Given the description of an element on the screen output the (x, y) to click on. 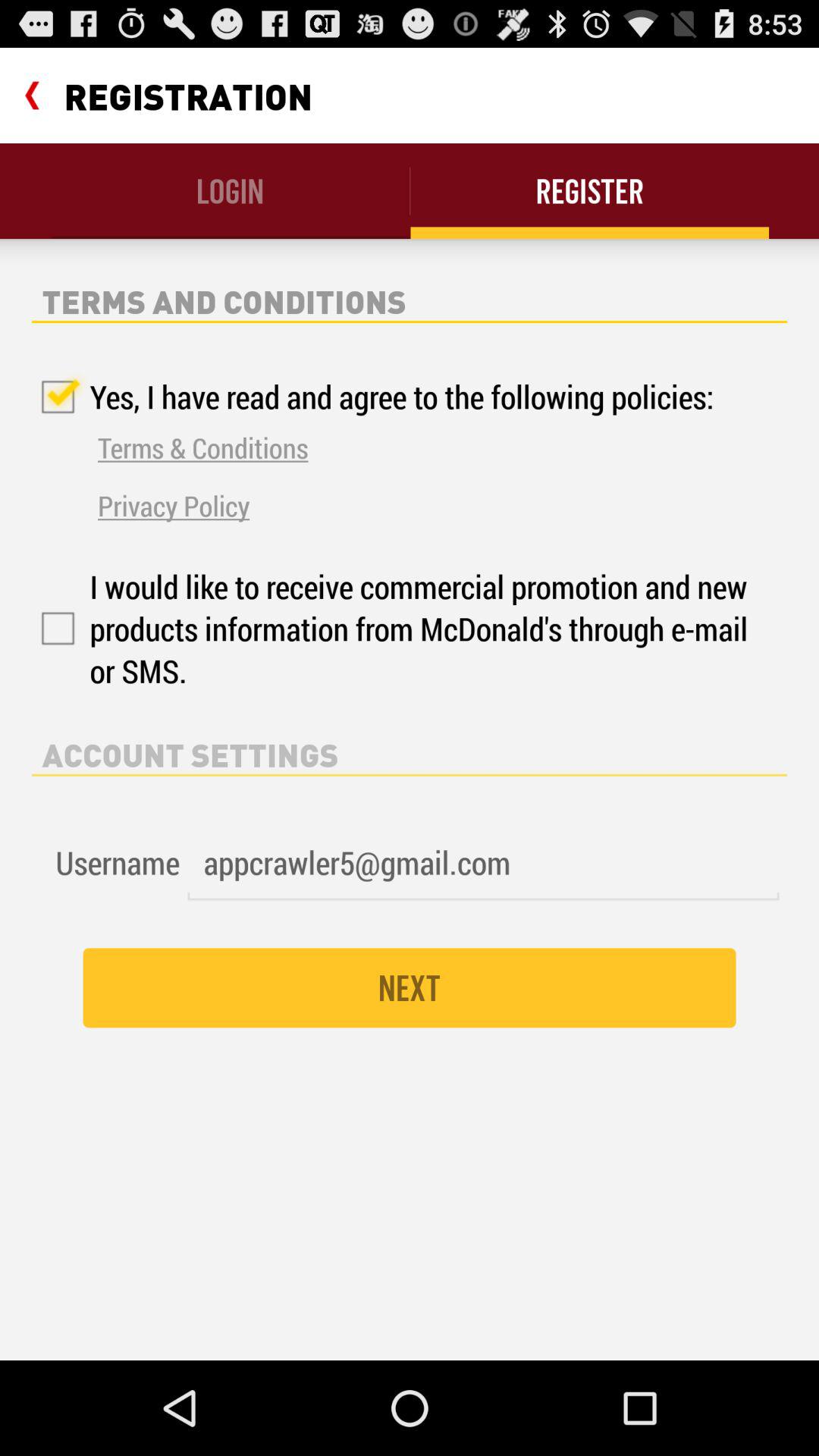
turn off the icon above terms & conditions item (372, 396)
